Given the description of an element on the screen output the (x, y) to click on. 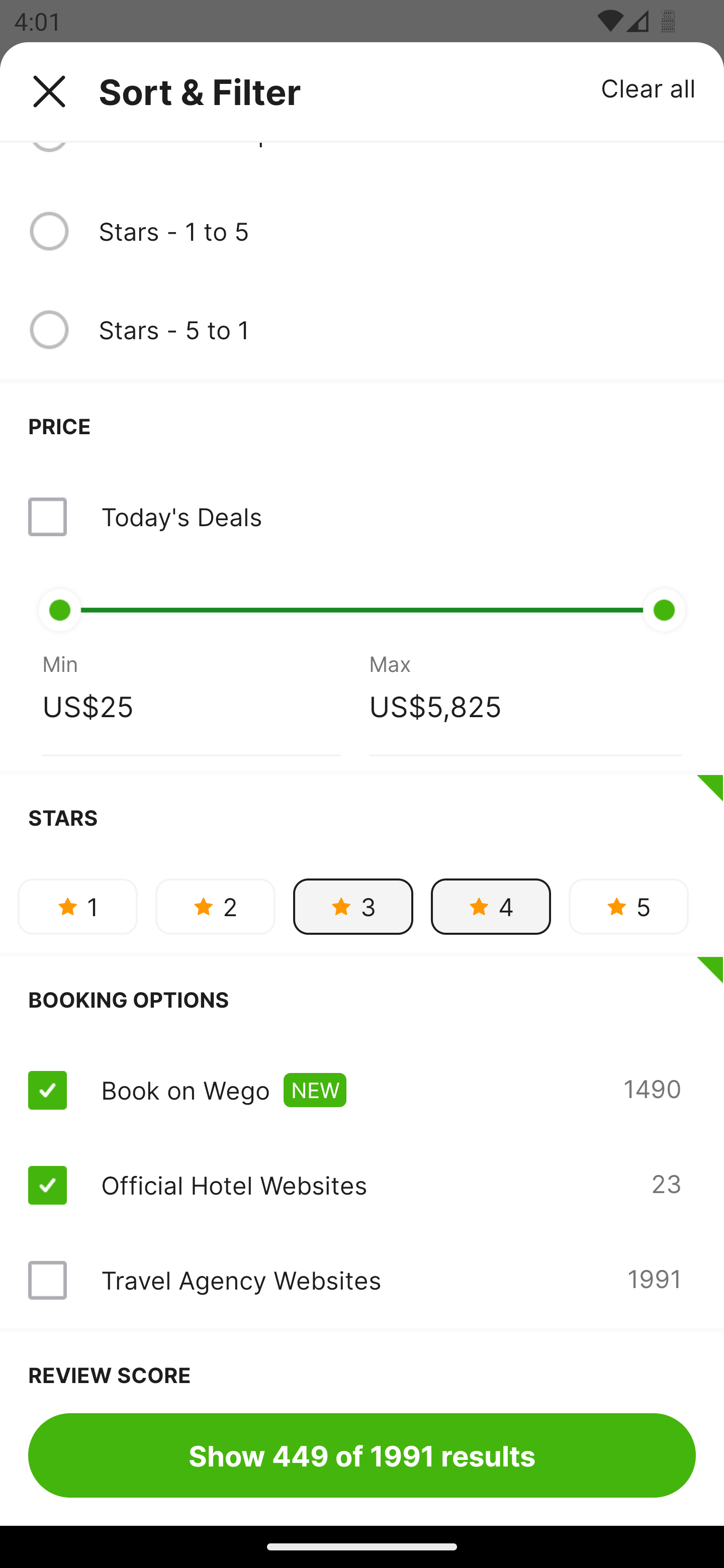
Clear all (648, 87)
Stars - 1 to 5 (362, 230)
Stars - 1 to 5 (396, 231)
Stars - 5 to 1 (362, 329)
Stars - 5 to 1 (396, 329)
Today's Deals (362, 516)
Today's Deals (181, 516)
1 (77, 906)
2 (214, 906)
3 (352, 906)
4 (491, 906)
5 (627, 906)
Book on Wego NEW 1490 (362, 1090)
Book on Wego (184, 1089)
Official Hotel Websites 23 (362, 1185)
Official Hotel Websites (233, 1185)
Travel Agency Websites 1991 (362, 1280)
Travel Agency Websites (240, 1280)
Show 449 of 1991 results (361, 1454)
